Given the description of an element on the screen output the (x, y) to click on. 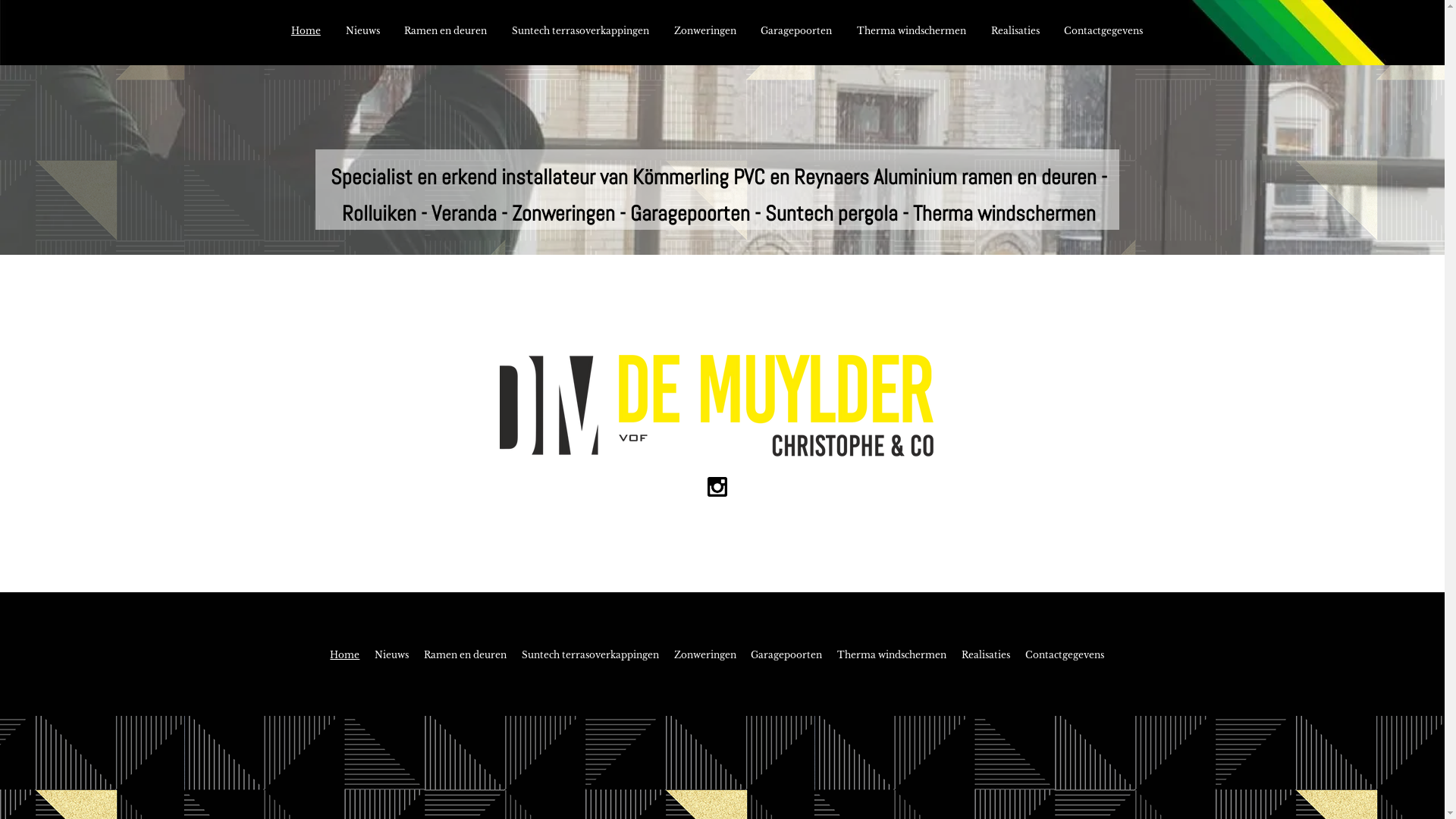
Therma windschermen Element type: text (891, 655)
Ramen en deuren Element type: text (465, 655)
Realisaties Element type: text (985, 655)
Realisaties Element type: text (1014, 30)
Home Element type: text (345, 655)
Zonweringen Element type: text (704, 655)
Zonweringen Element type: text (704, 30)
Home Element type: text (306, 30)
Garagepoorten Element type: text (796, 30)
Suntech terrasoverkappingen Element type: text (590, 655)
Nieuws Element type: text (362, 30)
Suntech terrasoverkappingen Element type: text (580, 30)
Ramen en deuren Element type: text (445, 30)
Nieuws Element type: text (391, 655)
Therma windschermen Element type: text (911, 30)
Contactgegevens Element type: text (1064, 655)
Garagepoorten Element type: text (786, 655)
Contactgegevens Element type: text (1103, 30)
